Given the description of an element on the screen output the (x, y) to click on. 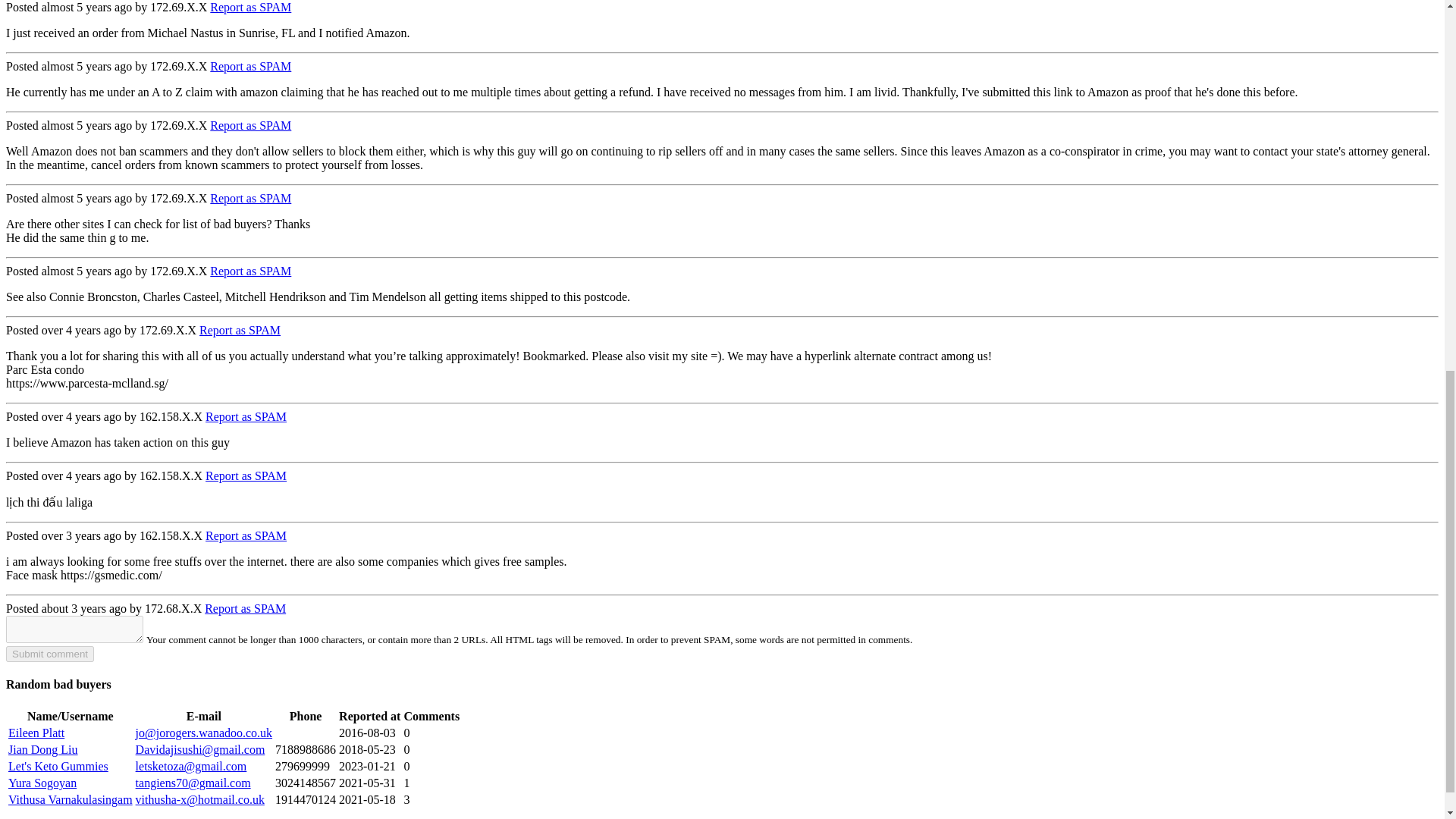
Yura Sogoyan (42, 782)
Report as SPAM (250, 124)
Submit comment (49, 653)
Report as SPAM (250, 6)
Jian Dong Liu (43, 748)
Report as SPAM (250, 270)
Report as SPAM (245, 475)
Report as SPAM (245, 416)
Report as SPAM (245, 608)
Vithusa Varnakulasingam (70, 799)
Eileen Platt (36, 732)
Submit comment (49, 653)
Report as SPAM (240, 329)
Report as SPAM (245, 535)
Let's Keto Gummies (57, 766)
